Given the description of an element on the screen output the (x, y) to click on. 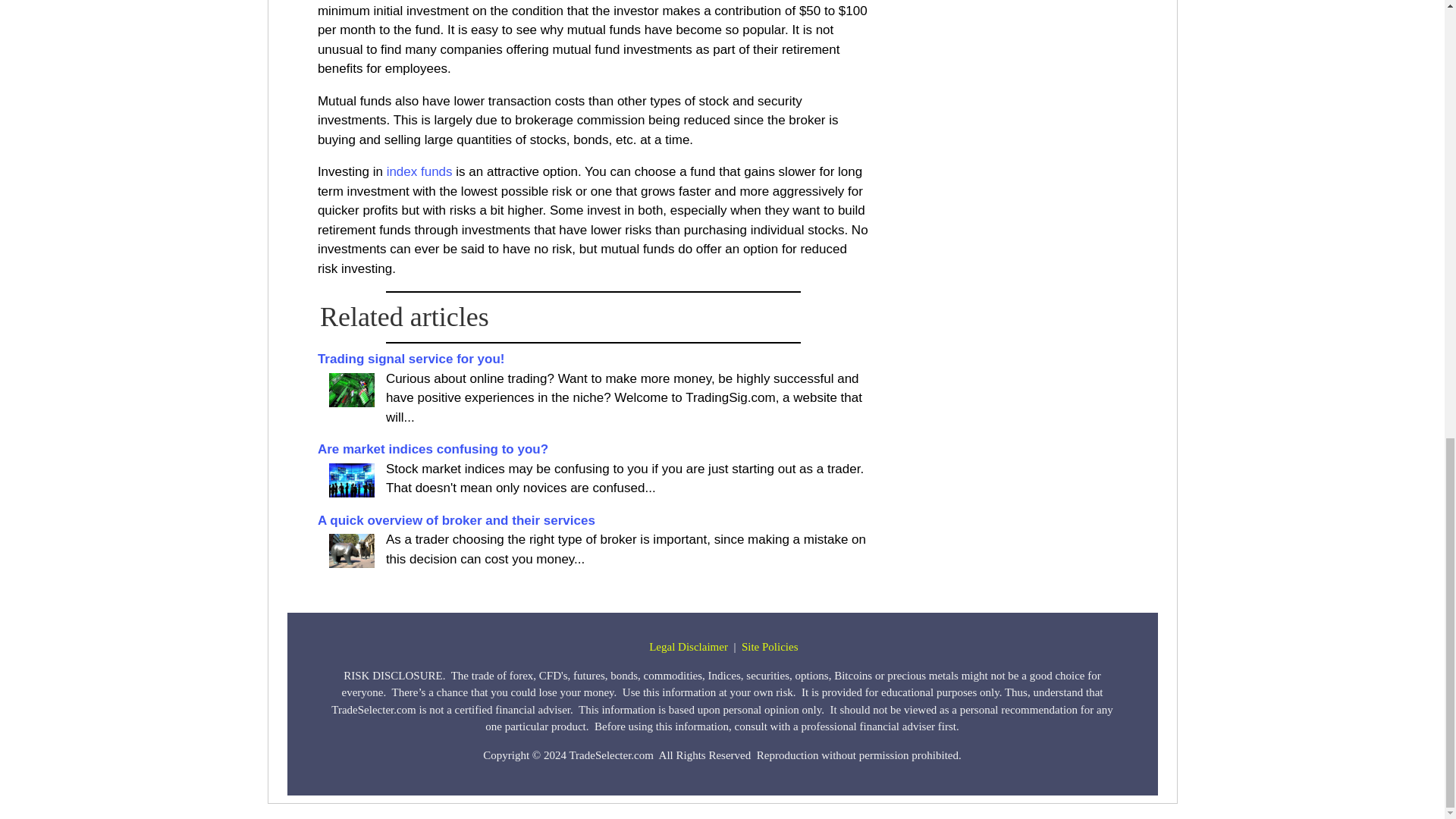
Indices (351, 480)
Trading (351, 390)
Broker (351, 550)
index funds (419, 171)
